Given the description of an element on the screen output the (x, y) to click on. 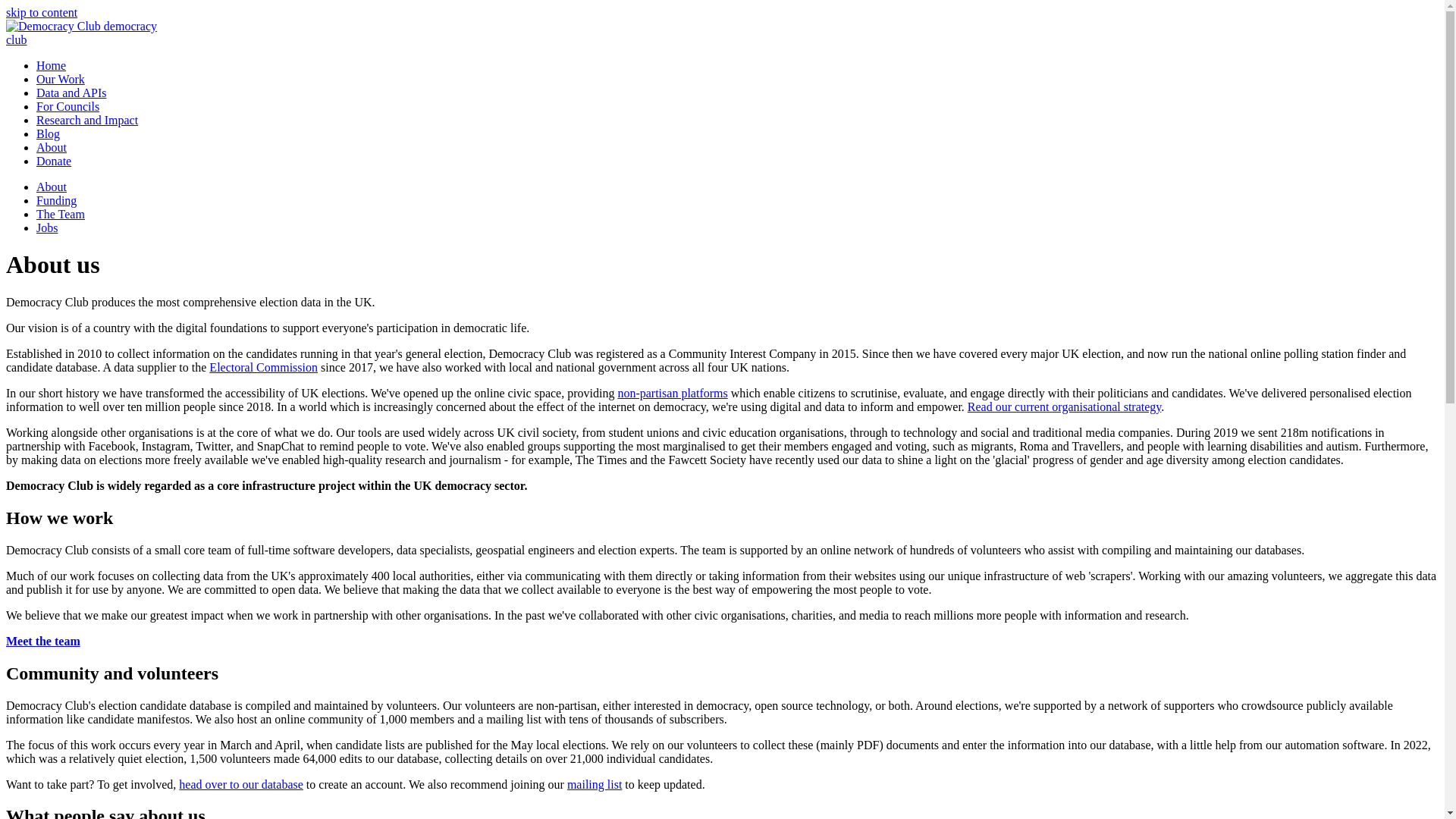
About (51, 146)
Read our current organisational strategy (1064, 406)
Jobs (47, 227)
Funding (56, 200)
head over to our database (240, 784)
The Team (81, 32)
mailing list (60, 214)
About (594, 784)
Blog (51, 186)
